Given the description of an element on the screen output the (x, y) to click on. 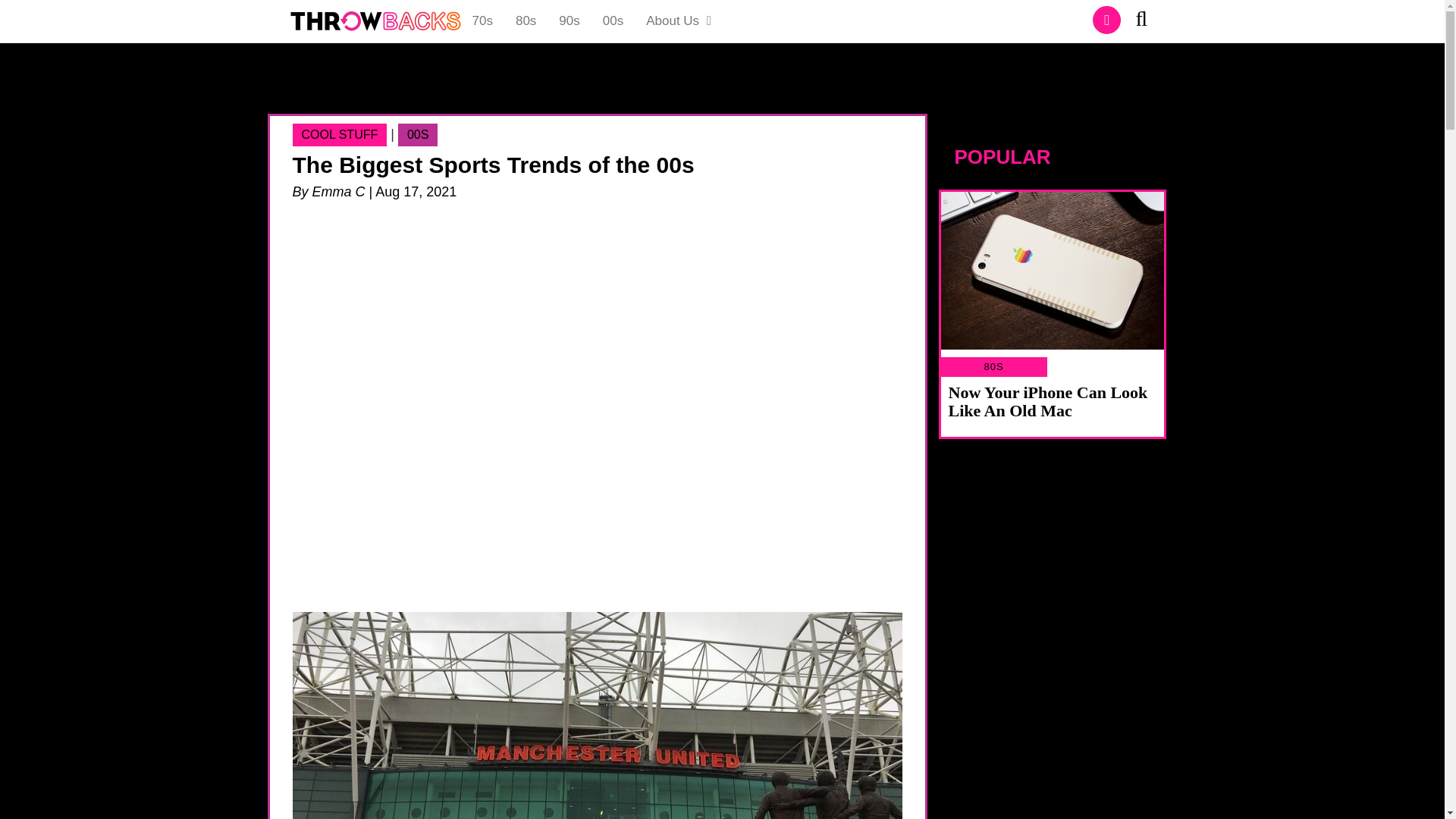
00s (612, 21)
COOL STUFF (339, 134)
facebook (1107, 19)
90s (569, 21)
80s (525, 21)
00S (417, 134)
About Us (679, 21)
Emma C (339, 191)
Search (1147, 21)
Emma C's Profile (339, 191)
